Given the description of an element on the screen output the (x, y) to click on. 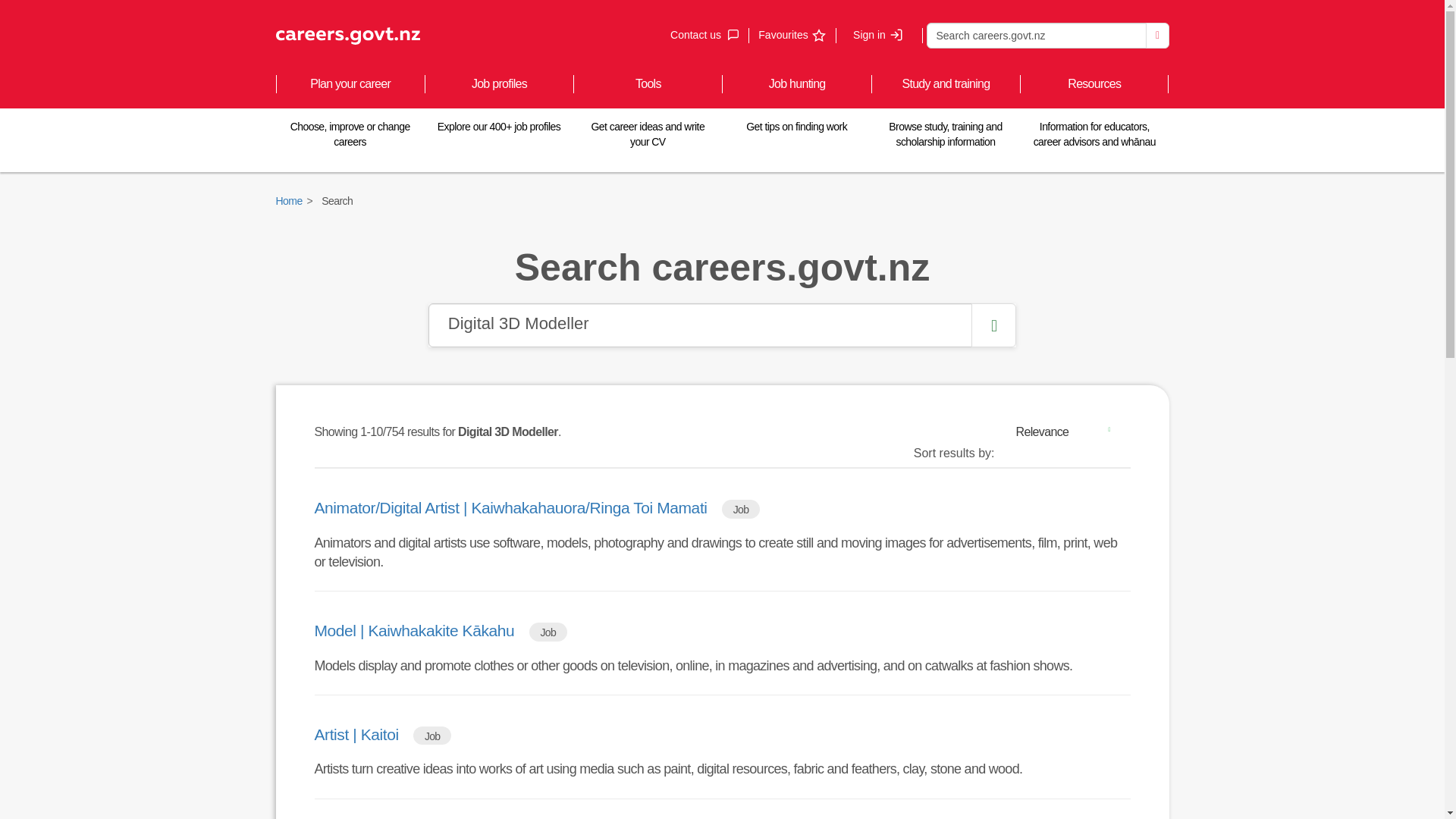
Search (704, 35)
Sign in (1157, 35)
Favourites (878, 35)
Relevance (791, 35)
Search (1067, 431)
Digital 3D Modeller (1036, 35)
